Given the description of an element on the screen output the (x, y) to click on. 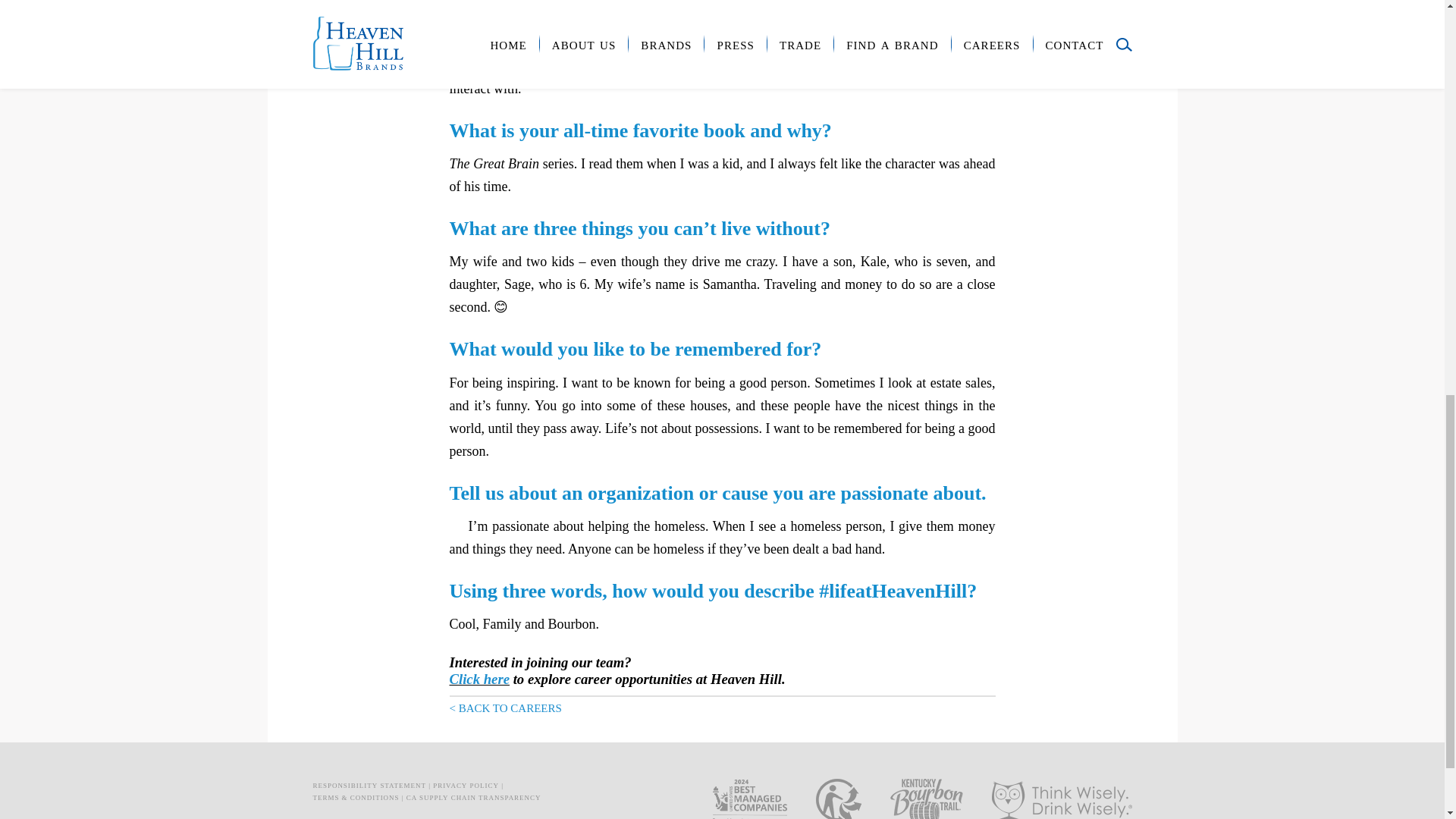
CA Supply Chain Transparency (473, 796)
Click here (478, 678)
privacy policy (465, 784)
responsibility statement (369, 784)
